Given the description of an element on the screen output the (x, y) to click on. 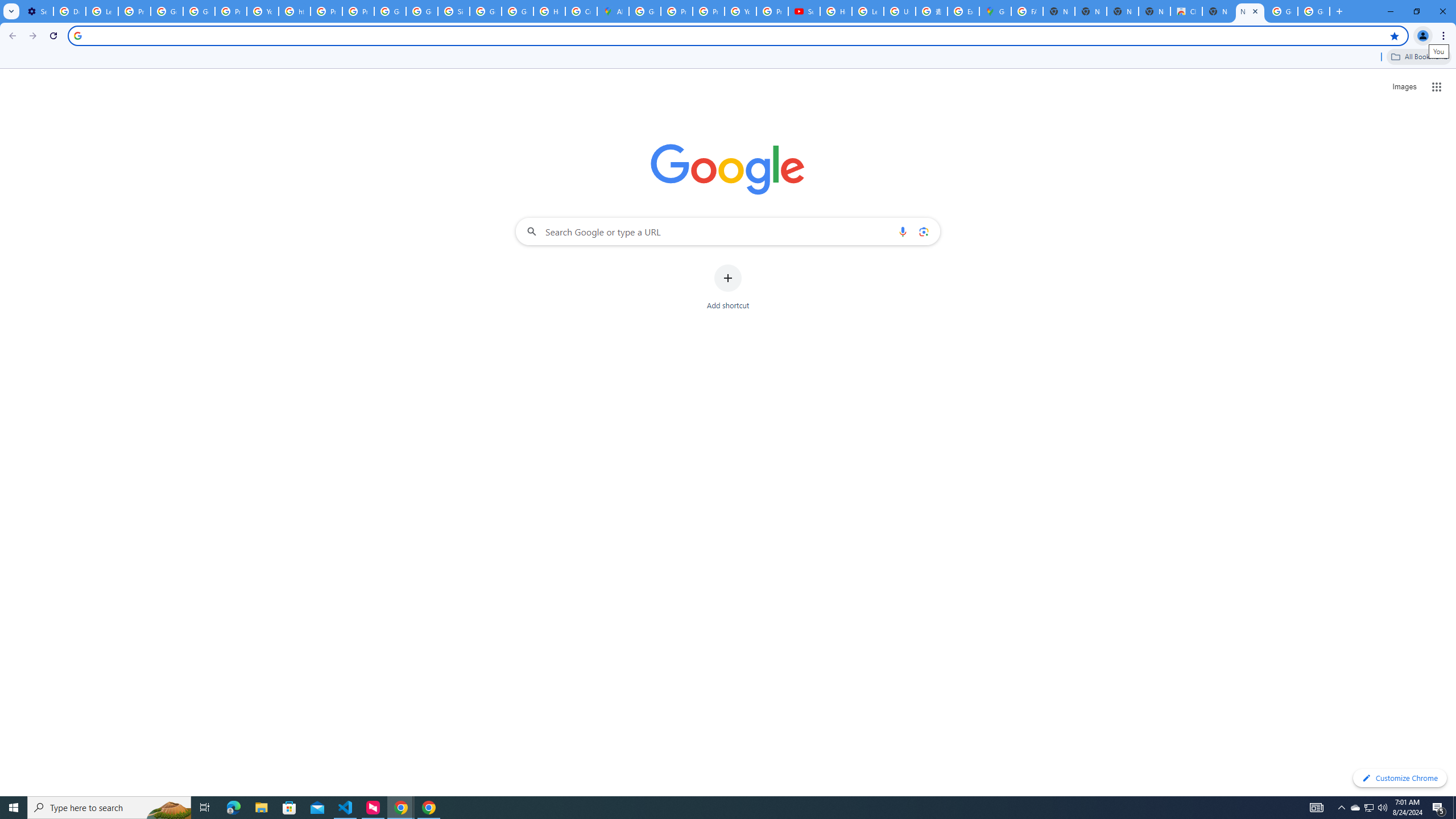
Privacy Help Center - Policies Help (708, 11)
Privacy Help Center - Policies Help (676, 11)
Google Images (1313, 11)
Privacy Help Center - Policies Help (326, 11)
Google Account Help (166, 11)
Explore new street-level details - Google Maps Help (963, 11)
Bookmarks (728, 58)
Chrome Web Store (1185, 11)
